Given the description of an element on the screen output the (x, y) to click on. 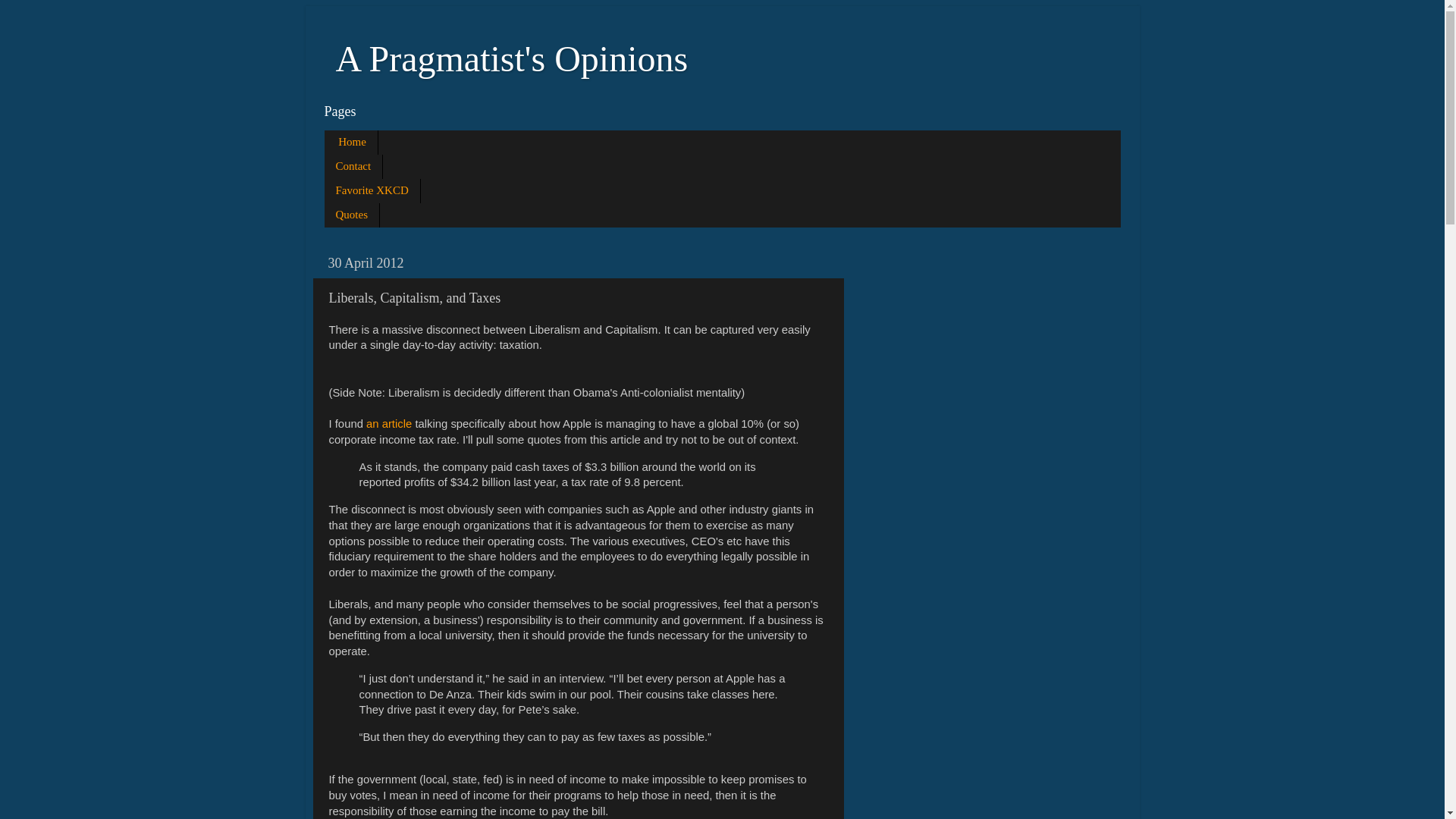
Favorite XKCD (372, 191)
an article (389, 423)
Quotes (352, 215)
A Pragmatist's Opinions (510, 58)
Contact (354, 166)
Home (351, 142)
